Given the description of an element on the screen output the (x, y) to click on. 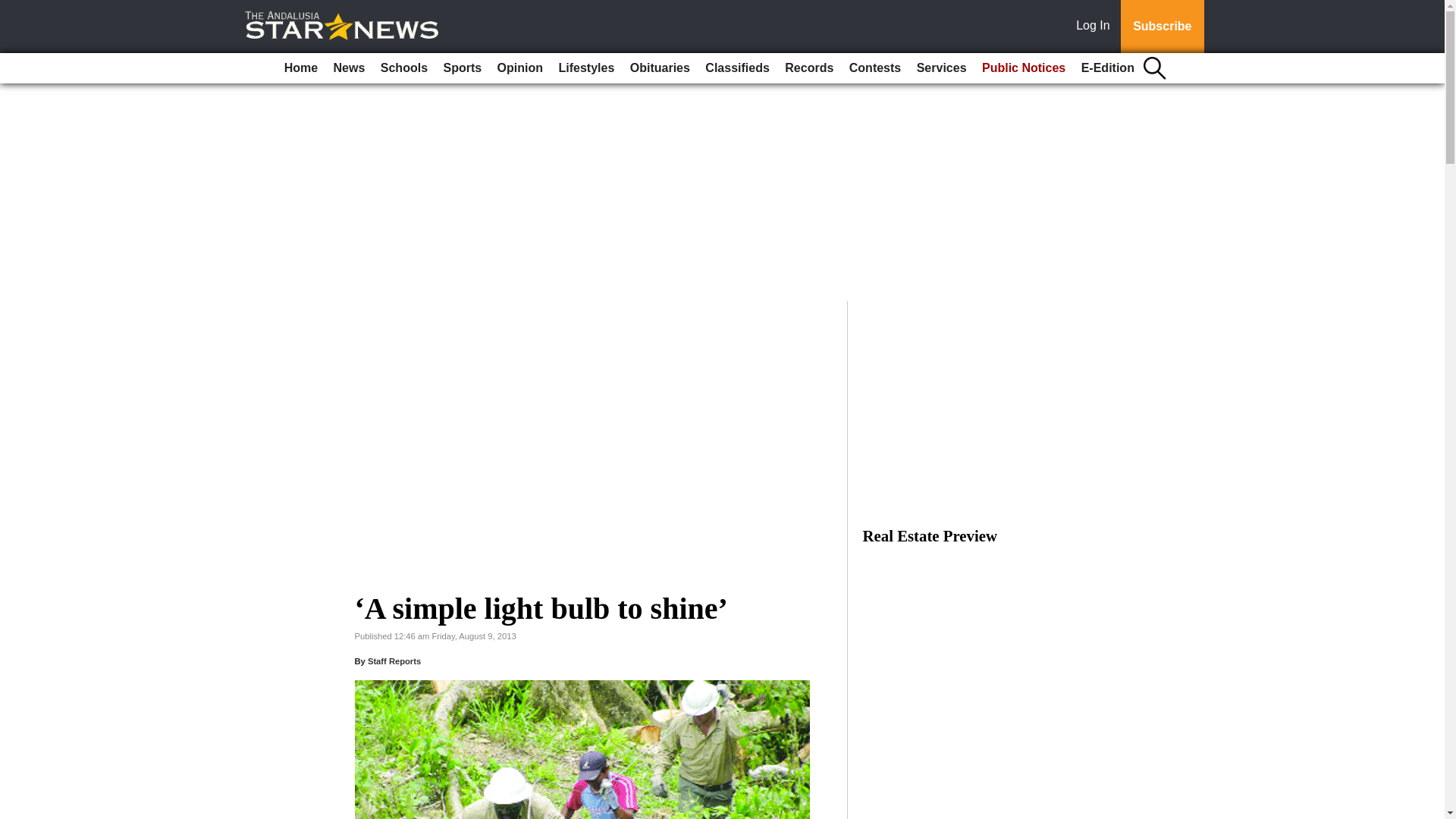
Sports (461, 68)
Schools (403, 68)
Staff Reports (394, 660)
Lifestyles (585, 68)
Obituaries (659, 68)
E-Edition (1107, 68)
Subscribe (1162, 26)
Records (809, 68)
Opinion (520, 68)
Public Notices (1023, 68)
Services (941, 68)
Classifieds (736, 68)
Home (300, 68)
Go (13, 9)
Log In (1095, 26)
